Given the description of an element on the screen output the (x, y) to click on. 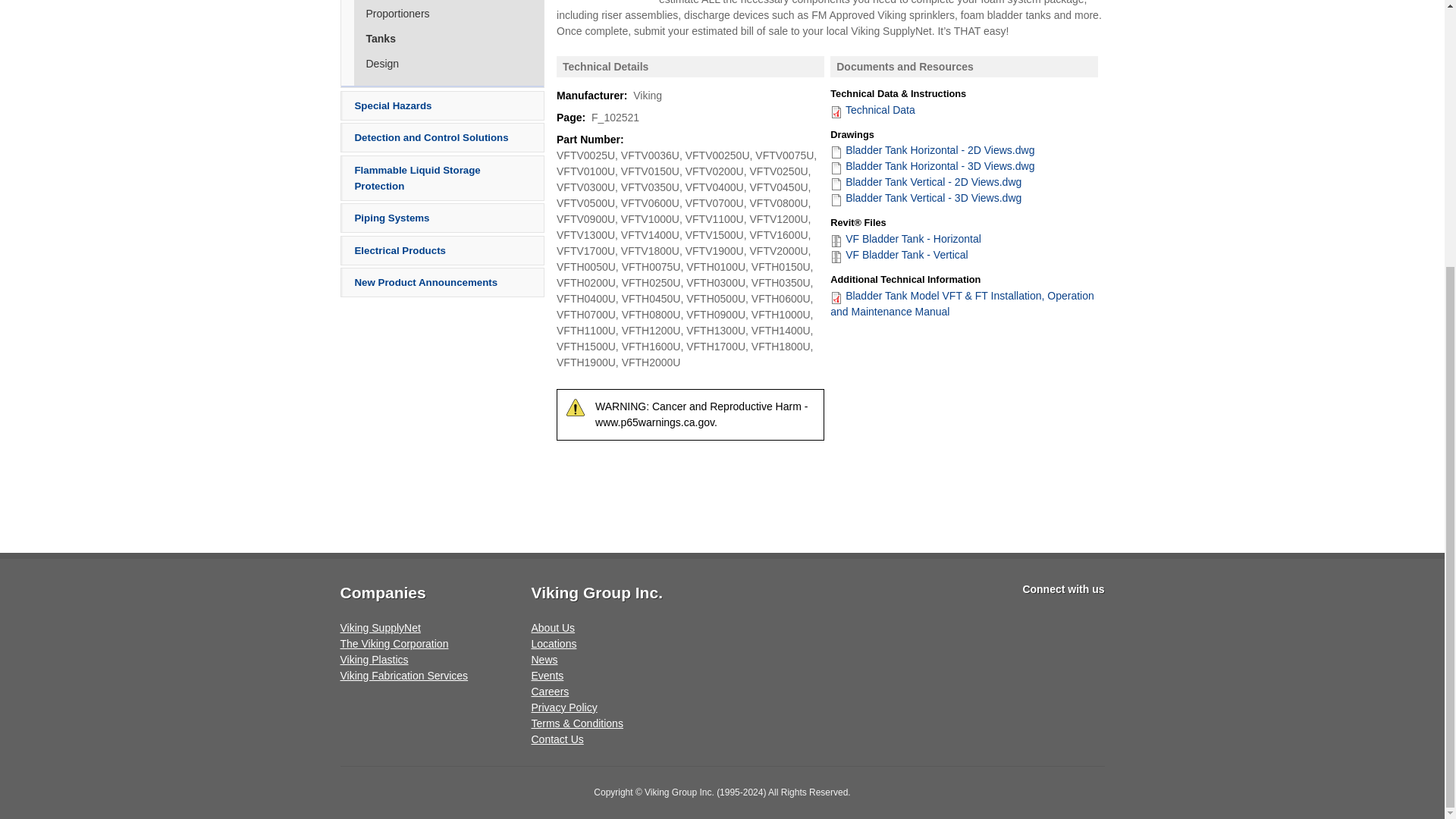
1.03 MB ZIP (905, 238)
5.35 MB DWG (931, 165)
1.34 MB DWG (925, 182)
4.97 MB DWG (925, 197)
1.54 MB DWG (931, 150)
636.94 KB ZIP (898, 254)
647.2 KB PDF (871, 109)
